Given the description of an element on the screen output the (x, y) to click on. 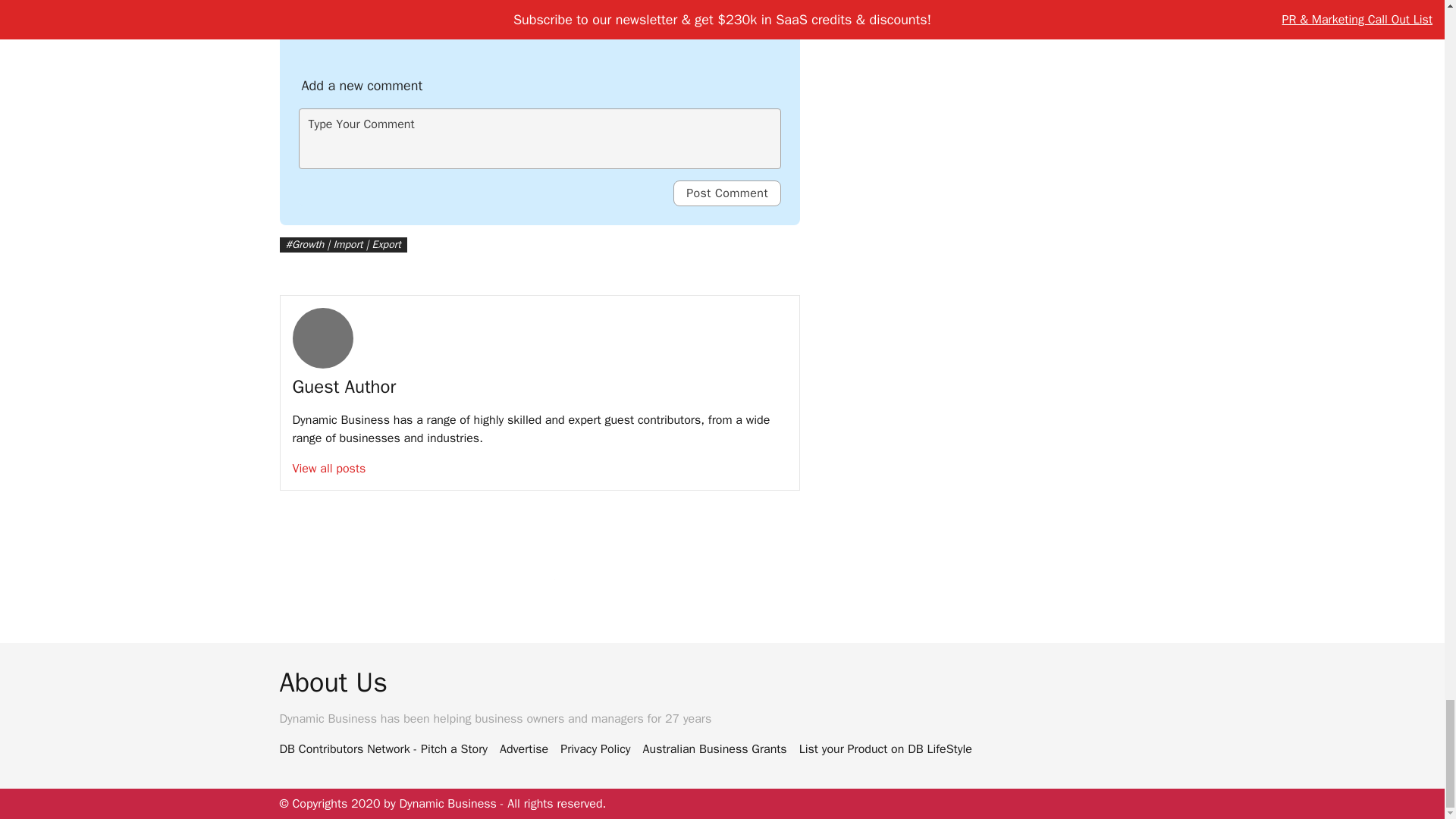
View all posts (329, 468)
Post Comment (726, 193)
